Given the description of an element on the screen output the (x, y) to click on. 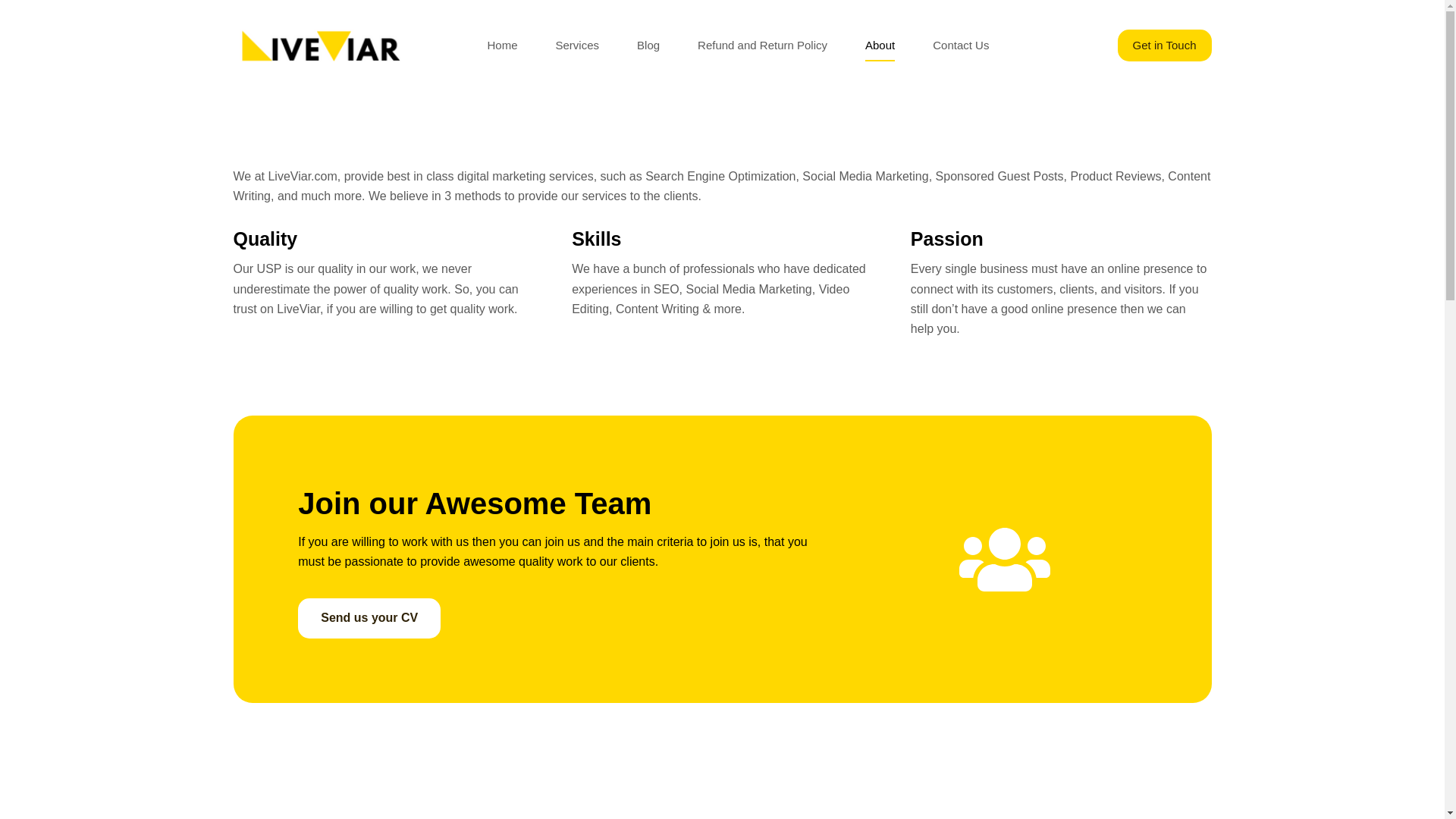
Skip to content (15, 7)
Blog (647, 45)
Refund and Return Policy (761, 45)
Home (502, 45)
Services (577, 45)
Contact Us (960, 45)
About (879, 45)
Send us your CV (369, 618)
Get in Touch (1164, 45)
